Given the description of an element on the screen output the (x, y) to click on. 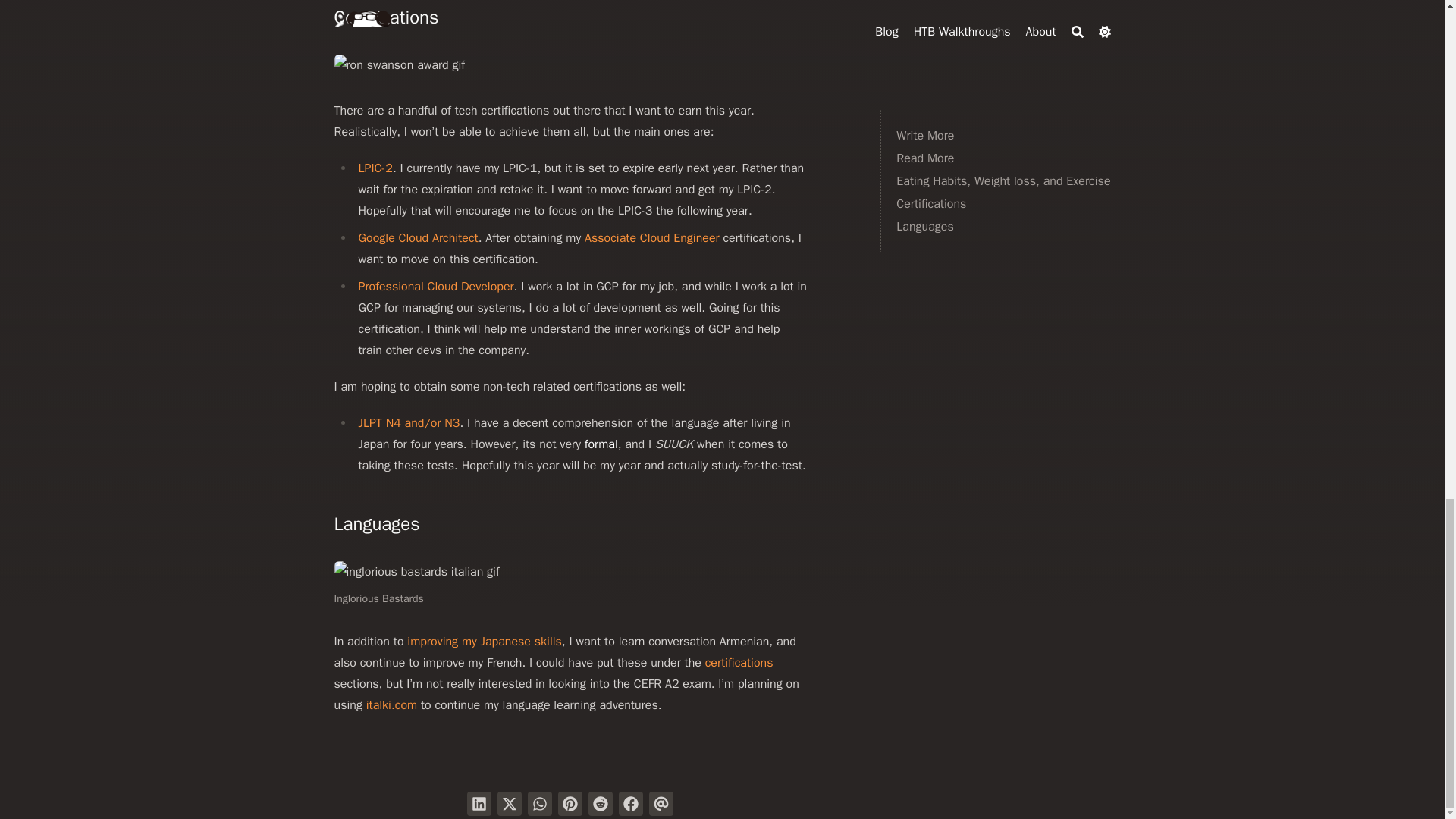
Share on LinkedIn (479, 803)
Tweet on Twitter (509, 803)
Google Cloud Architect (417, 237)
Associate Cloud Engineer (652, 237)
Pin on Pinterest (569, 803)
Submit to Reddit (600, 803)
Professional Cloud Developer (435, 286)
Send via email (660, 803)
Share on Facebook (630, 803)
LPIC-2 (374, 168)
